Given the description of an element on the screen output the (x, y) to click on. 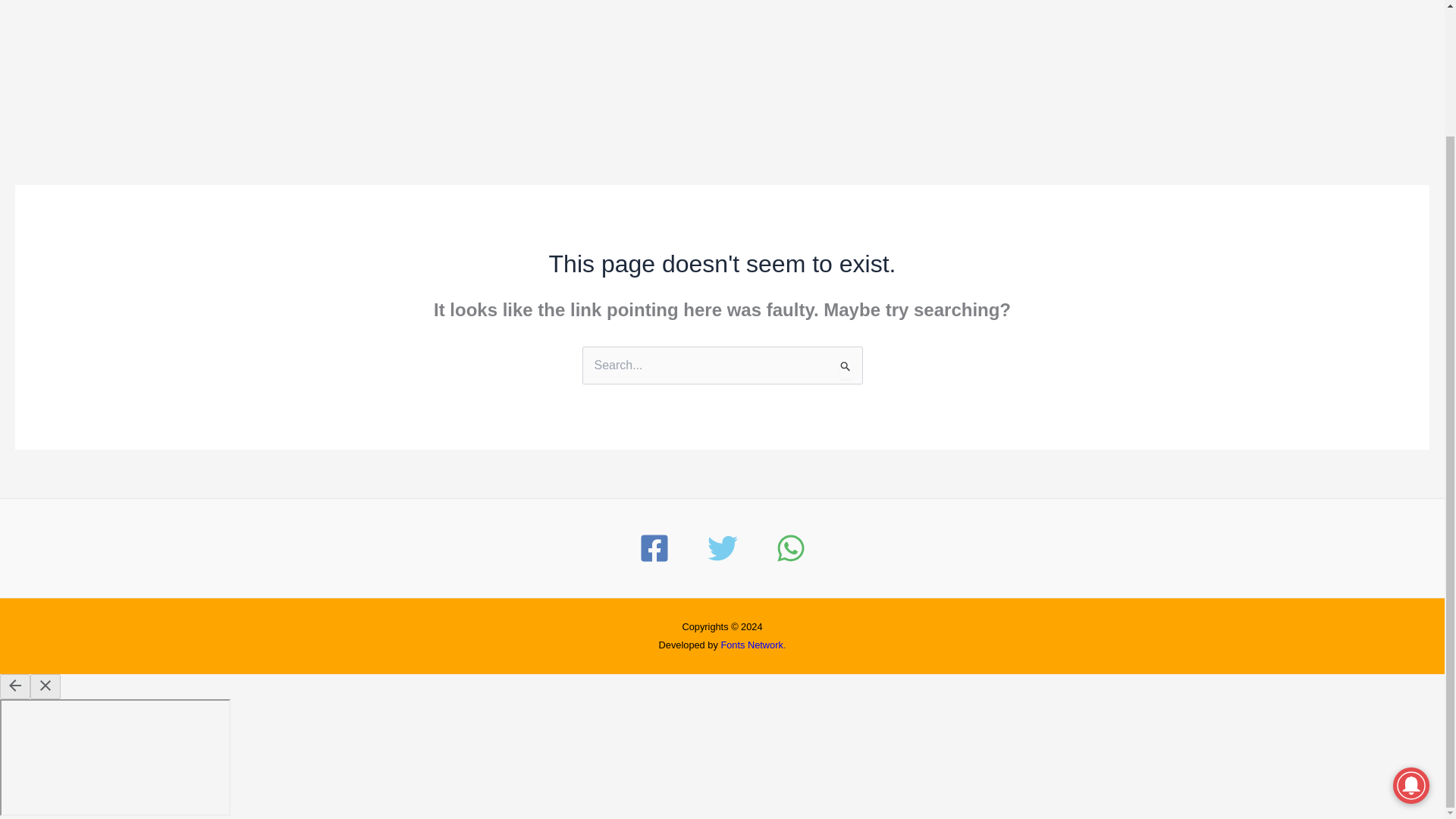
Advertisement (721, 64)
Fonts Network (751, 644)
Search (844, 365)
Search (844, 365)
Search (844, 365)
